Given the description of an element on the screen output the (x, y) to click on. 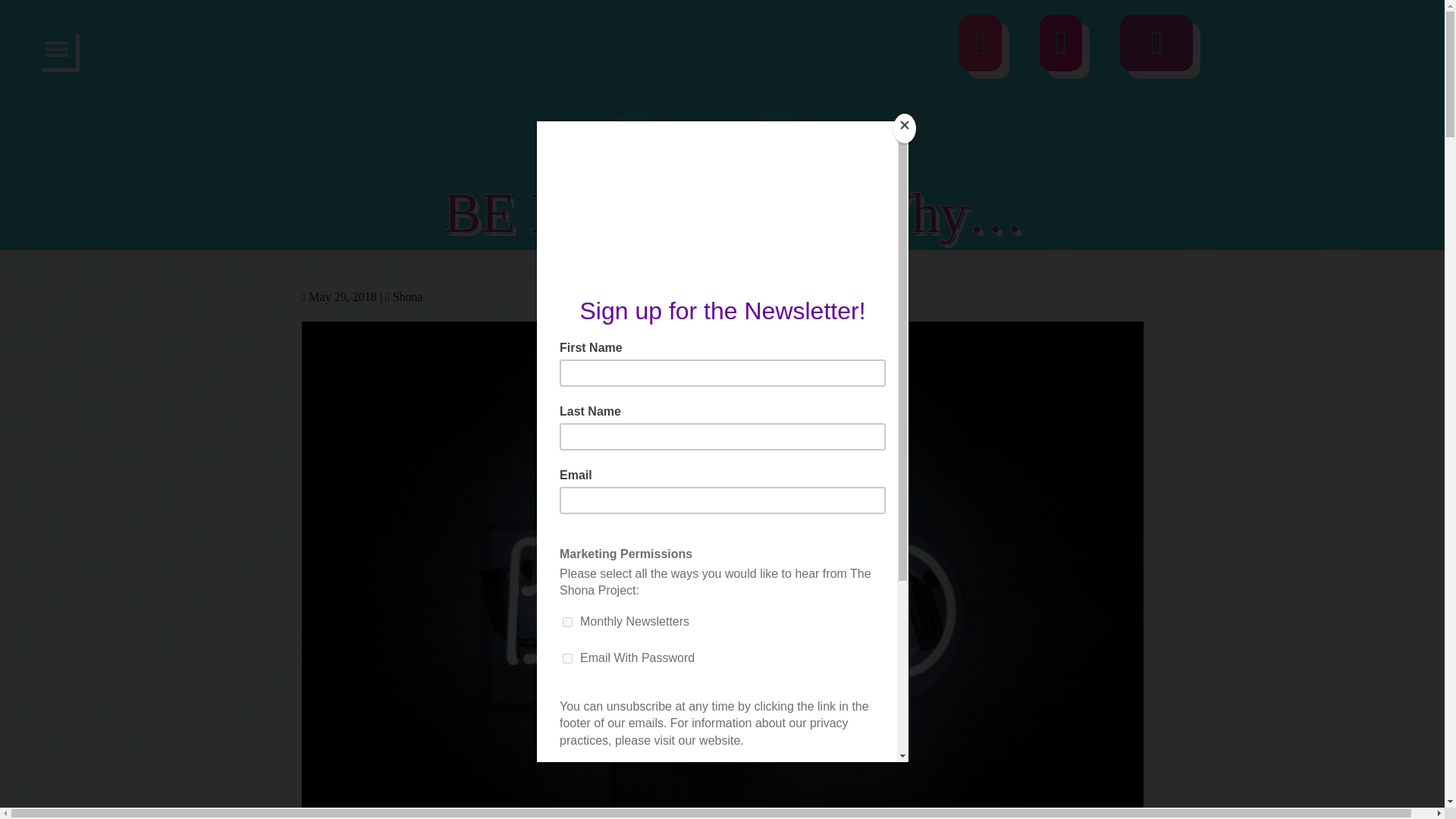
Link to The Shona Project Twitter page (1060, 49)
Link to The Shona Project Instagram page (980, 49)
Link to The Shona Project Facebook page (1155, 49)
